Given the description of an element on the screen output the (x, y) to click on. 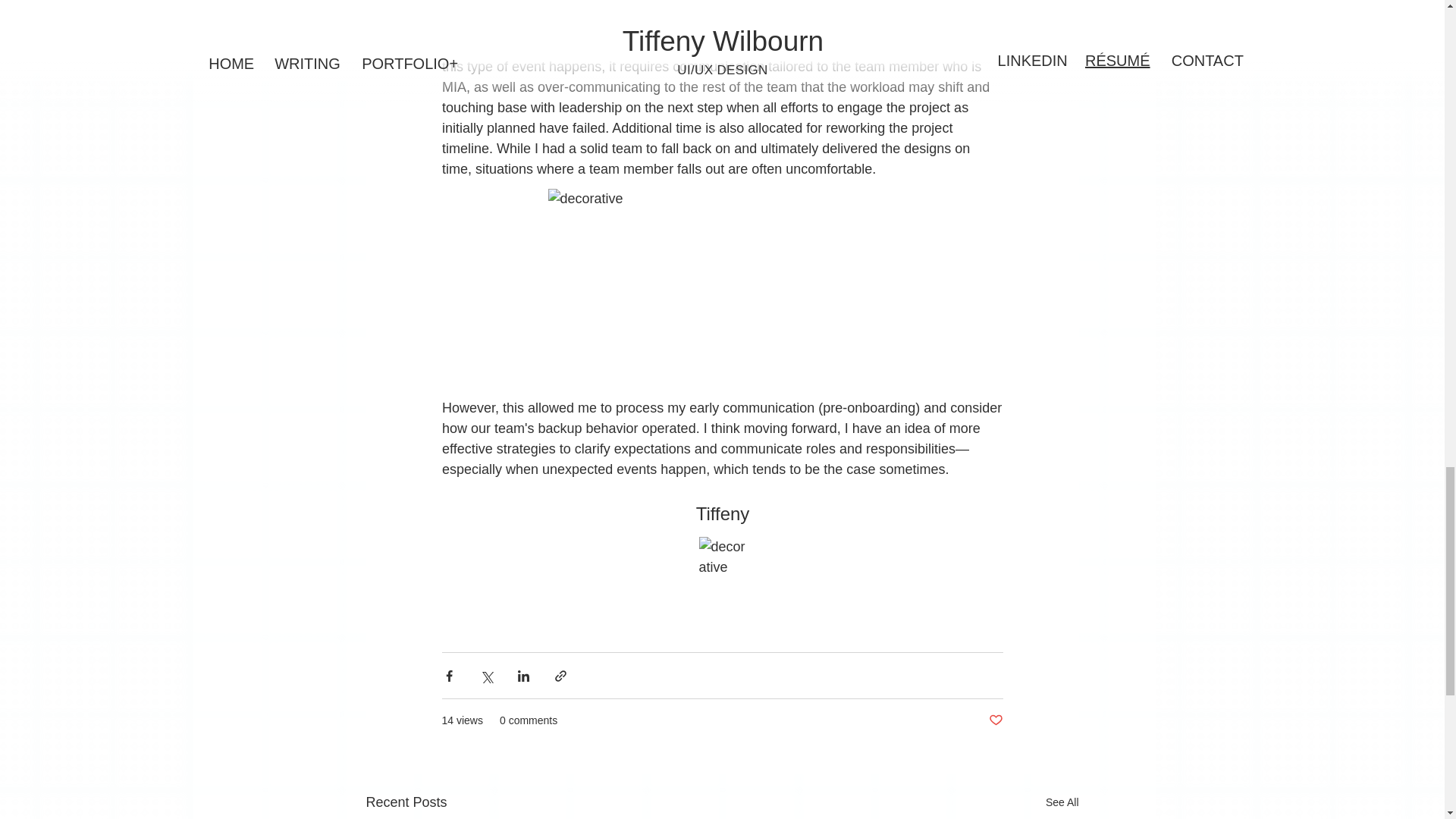
Post not marked as liked (995, 720)
See All (1061, 802)
